Given the description of an element on the screen output the (x, y) to click on. 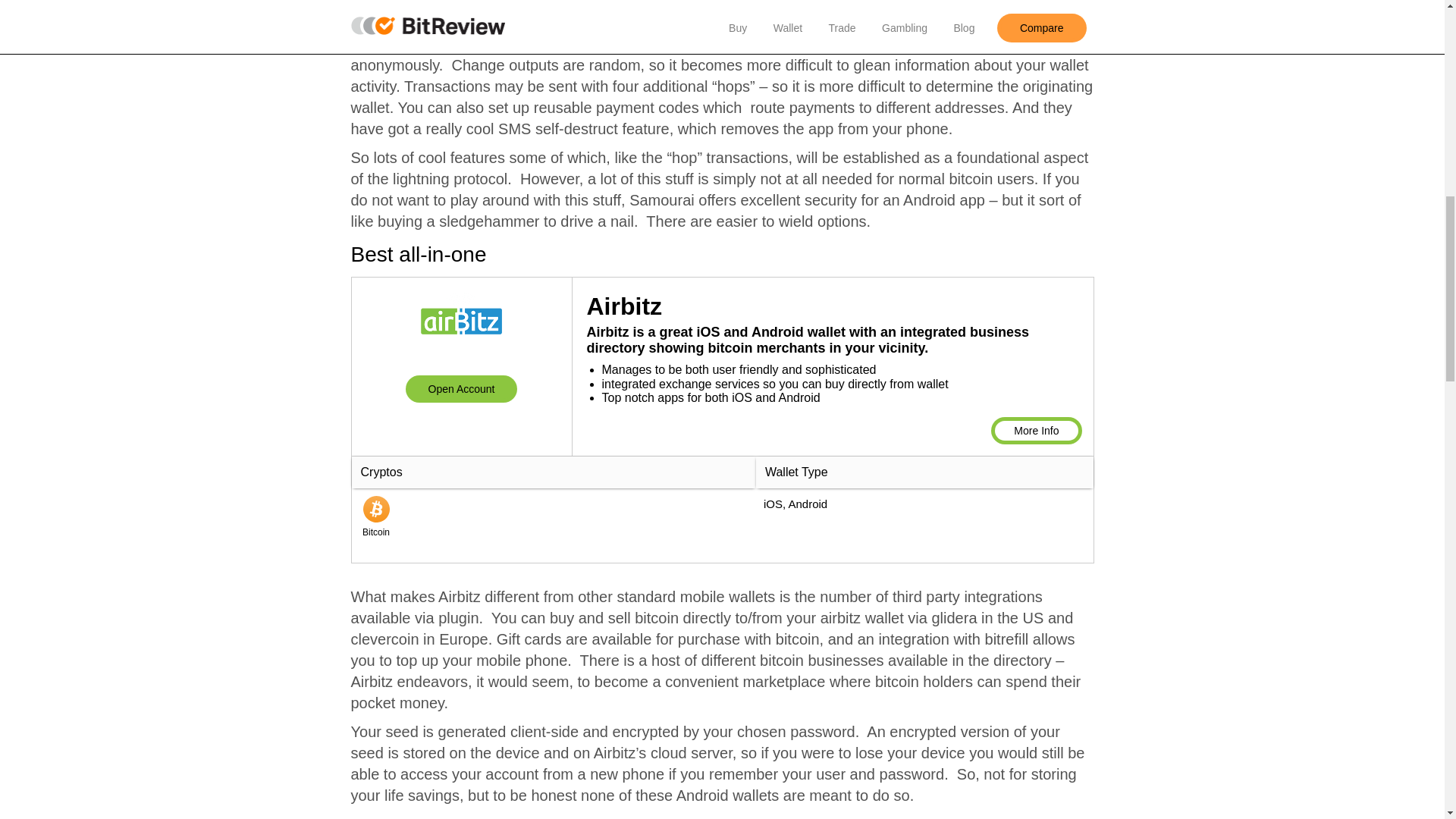
airbitz (461, 388)
